Given the description of an element on the screen output the (x, y) to click on. 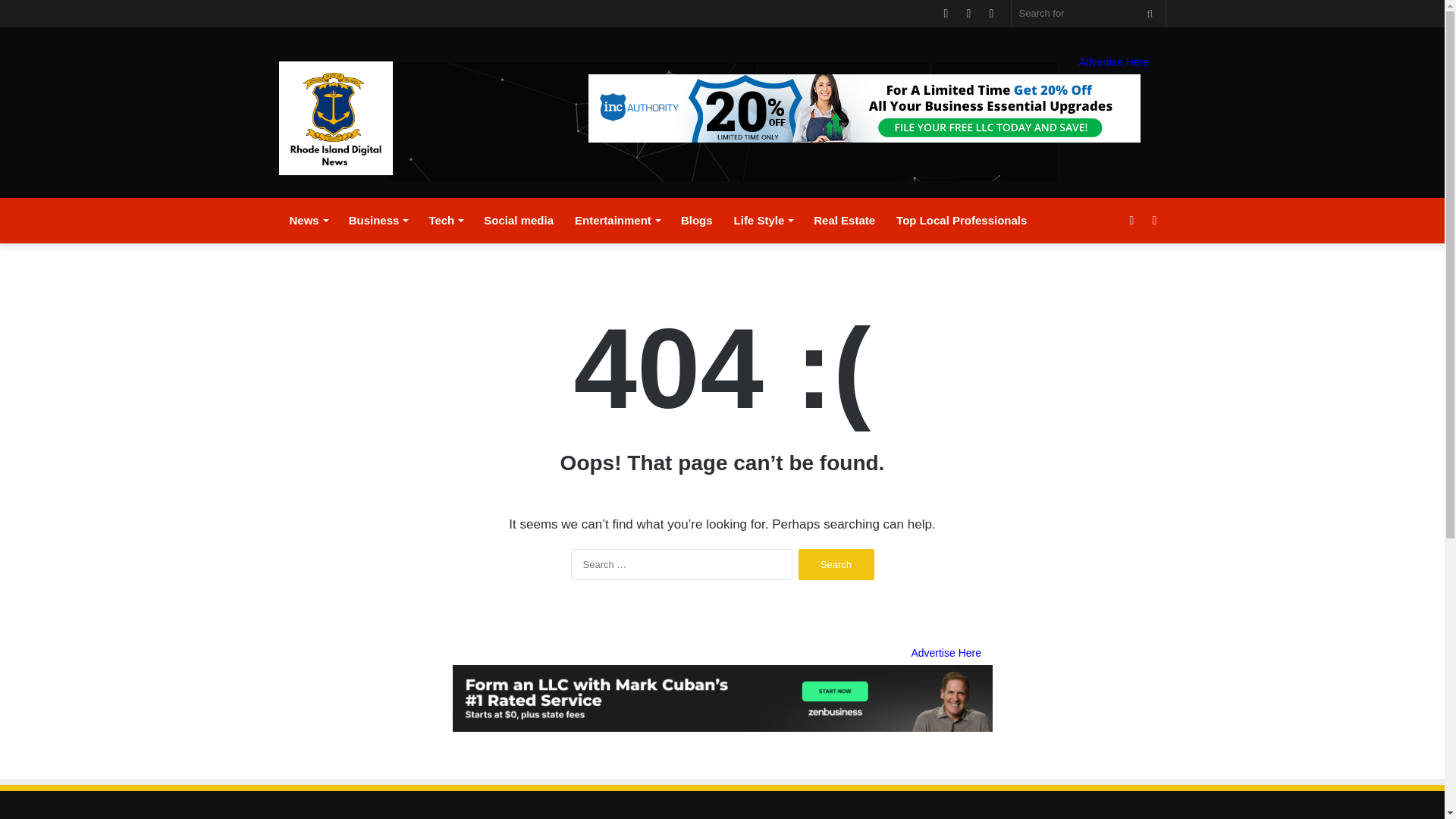
Rhodeislanddigitalnews (336, 118)
Social media (518, 220)
Tech (445, 220)
Search (835, 563)
Entertainment (616, 220)
Blogs (696, 220)
Business (378, 220)
Search for (1149, 13)
Search (835, 563)
Life Style (763, 220)
